Given the description of an element on the screen output the (x, y) to click on. 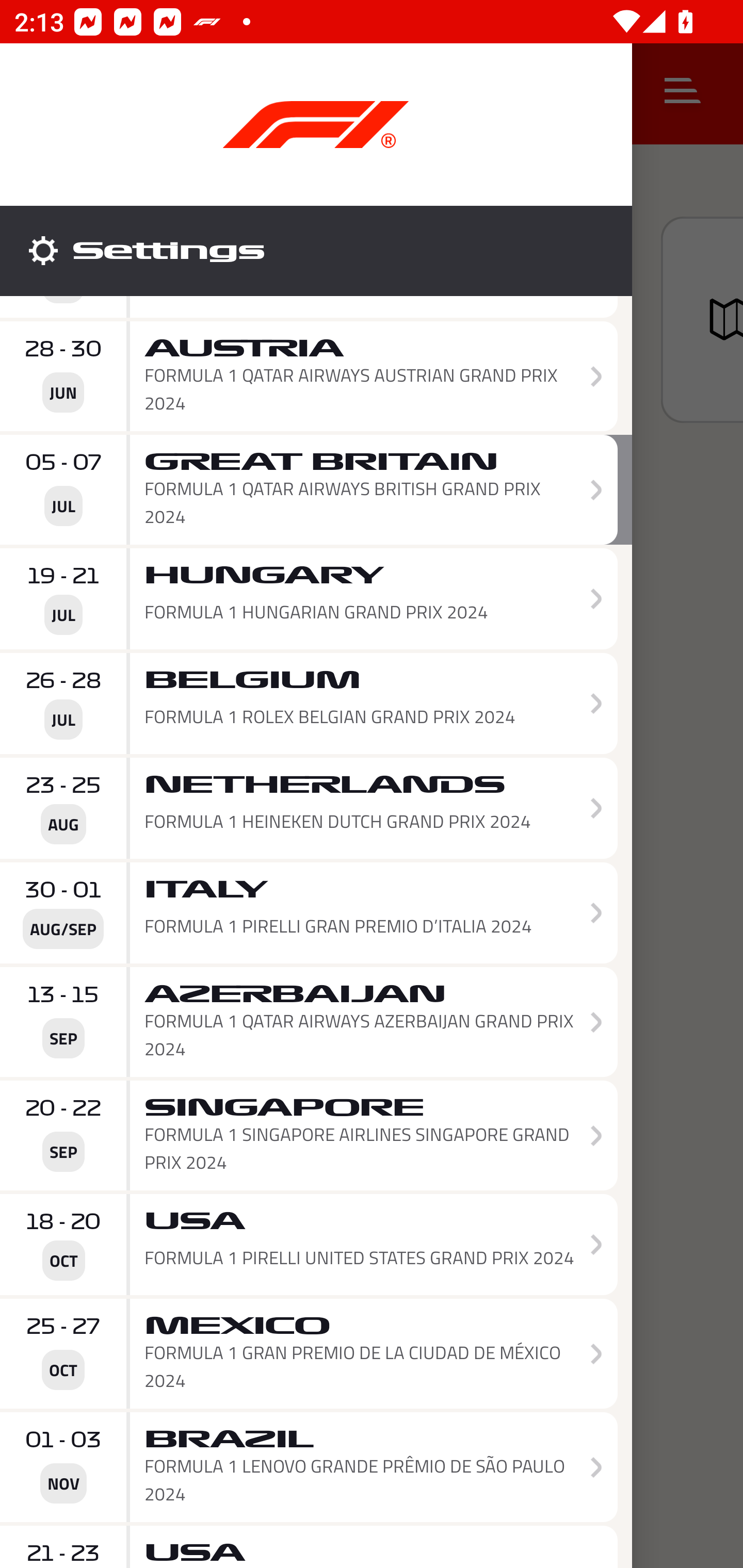
Settings (316, 250)
